Given the description of an element on the screen output the (x, y) to click on. 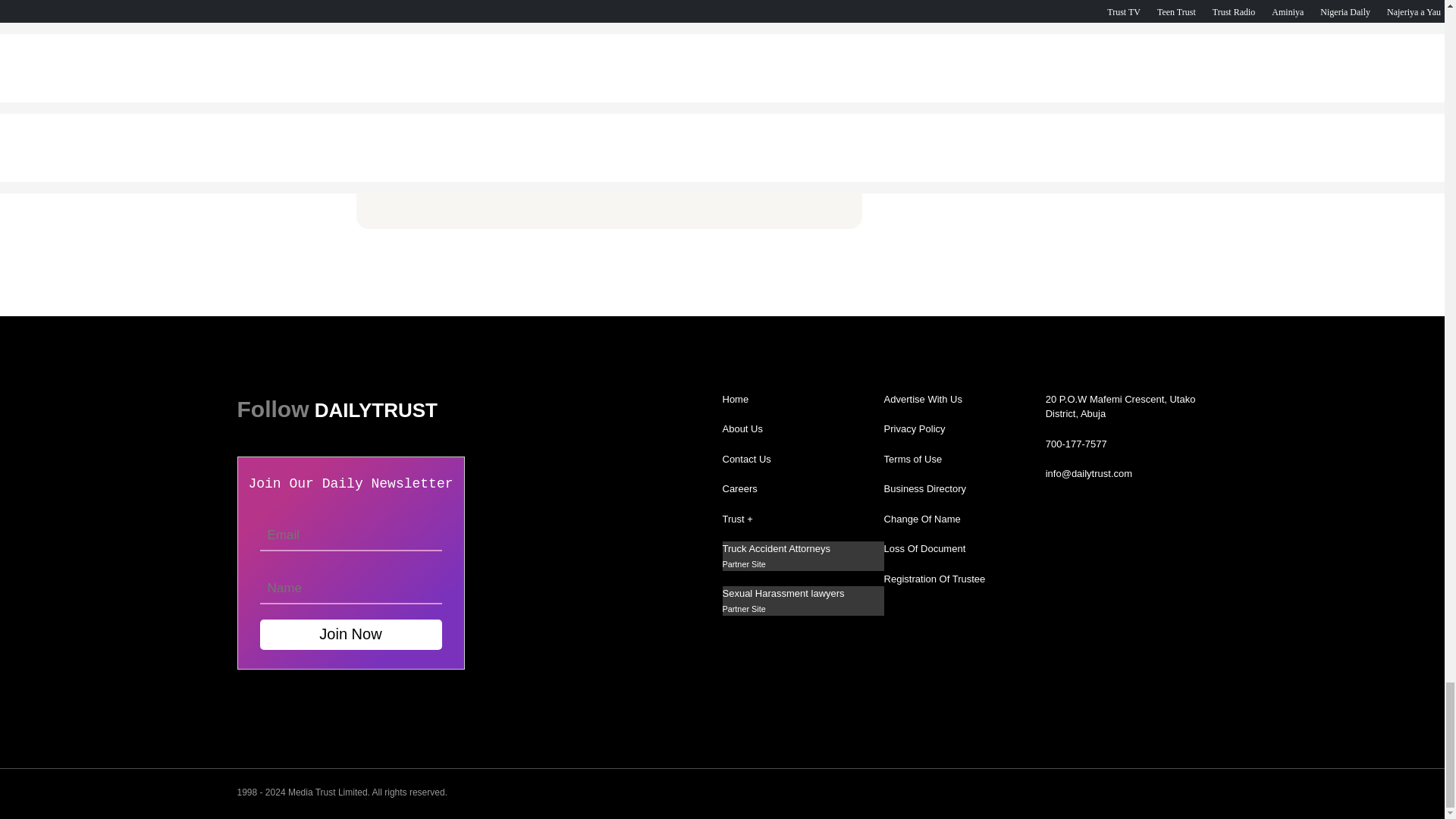
Join Now (350, 634)
